Given the description of an element on the screen output the (x, y) to click on. 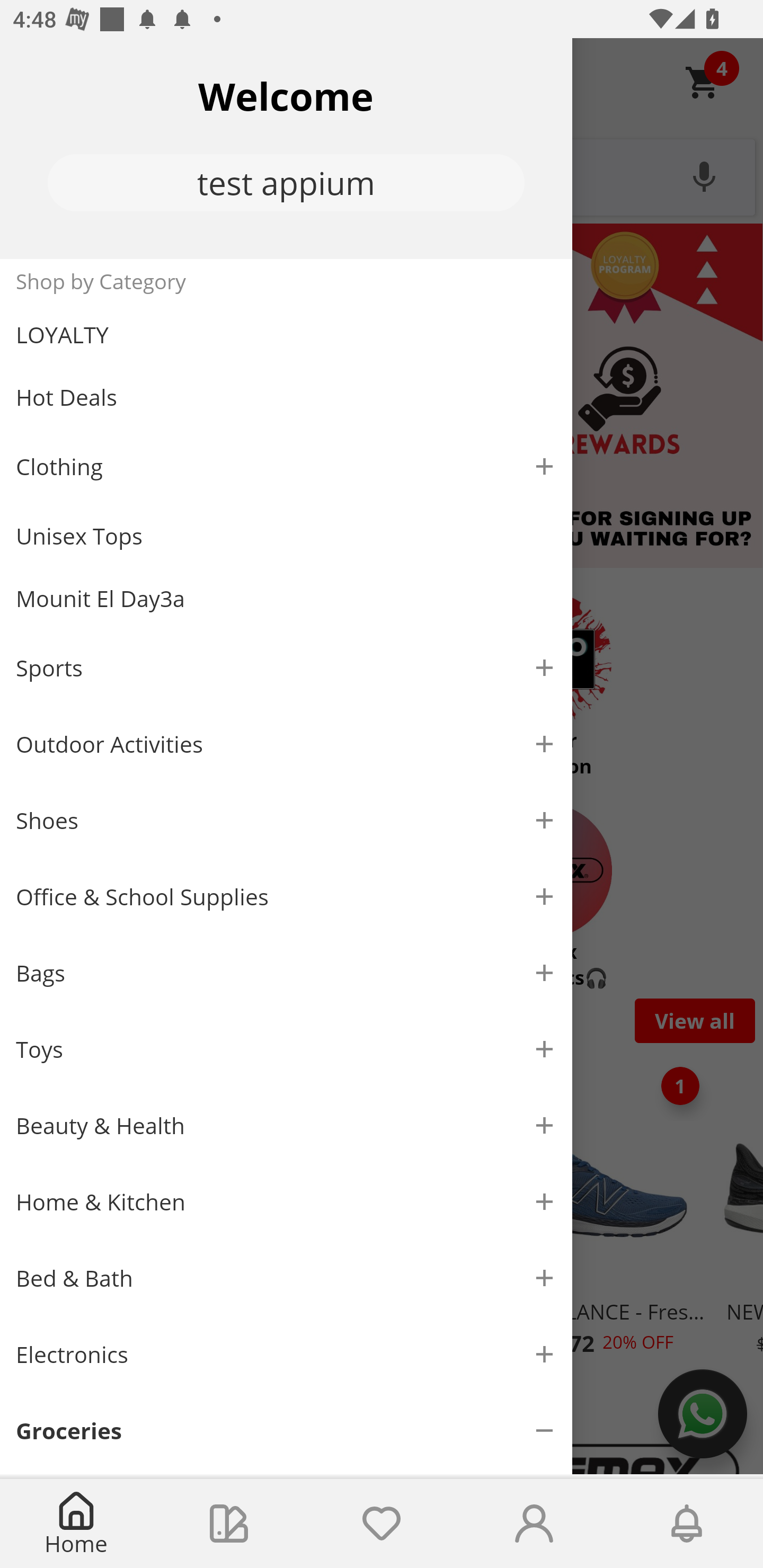
Welcome test appium (286, 147)
LOYALTY (286, 334)
Hot Deals (286, 396)
Clothing (286, 466)
Unisex Tops (286, 535)
Mounit El Day3a (286, 598)
Sports (286, 667)
Outdoor Activities (286, 743)
Shoes (286, 820)
Office & School Supplies (286, 896)
Bags (286, 972)
Toys (286, 1049)
Beauty & Health (286, 1125)
Home & Kitchen (286, 1201)
Bed & Bath (286, 1278)
Electronics (286, 1354)
Groceries Cleaning & Household (286, 1432)
Collections (228, 1523)
Wishlist (381, 1523)
Account (533, 1523)
Notifications (686, 1523)
